Given the description of an element on the screen output the (x, y) to click on. 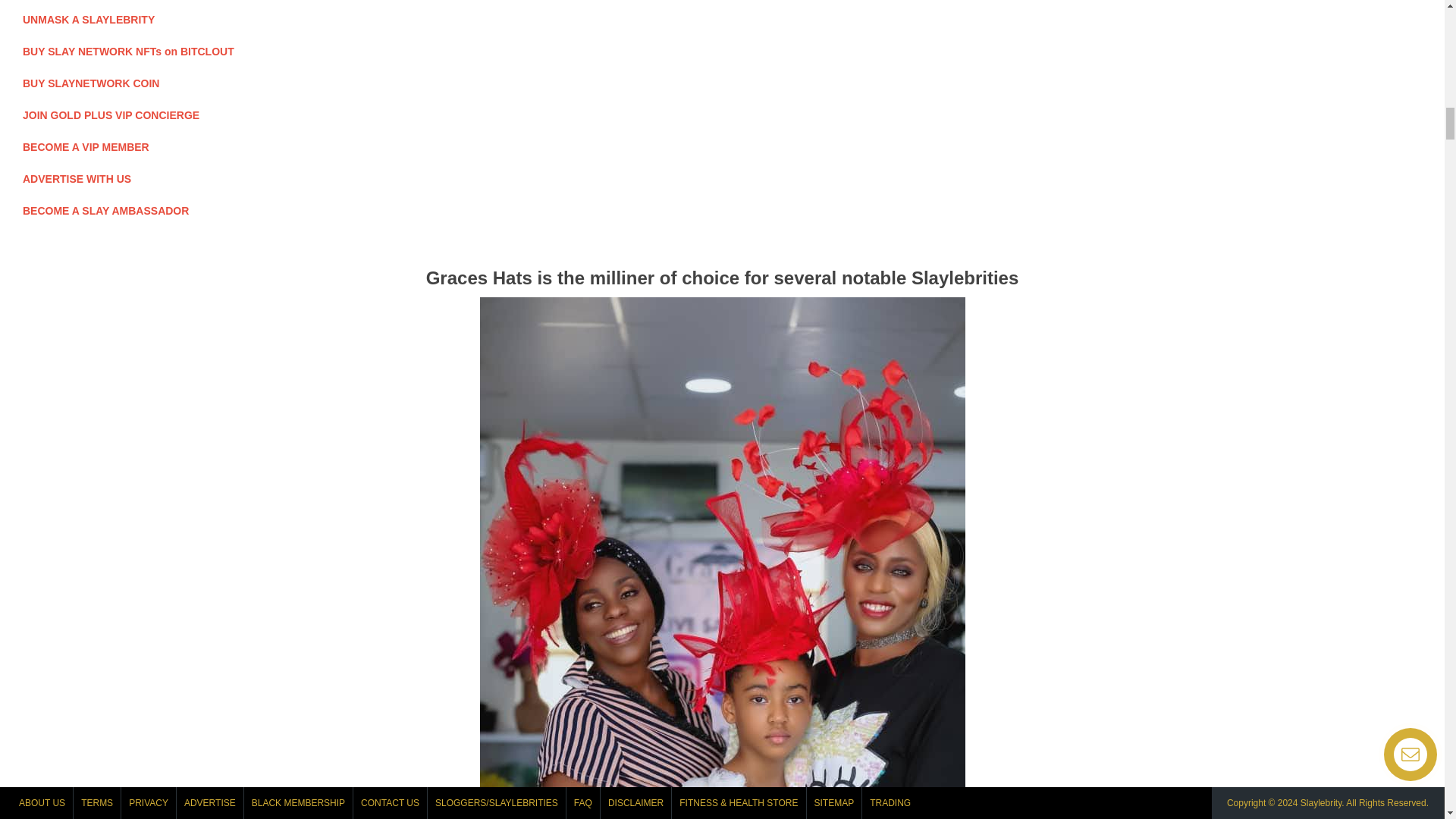
UNMASK A SLAYLEBRITY (88, 19)
BECOME A SLAY AMBASSADOR (106, 210)
ADVERTISE WITH US (77, 178)
BUY SLAY NETWORK NFTs on BITCLOUT (128, 51)
BECOME A VIP MEMBER (86, 146)
BUY SLAYNETWORK COIN (90, 82)
JOIN GOLD PLUS VIP CONCIERGE (111, 114)
